Given the description of an element on the screen output the (x, y) to click on. 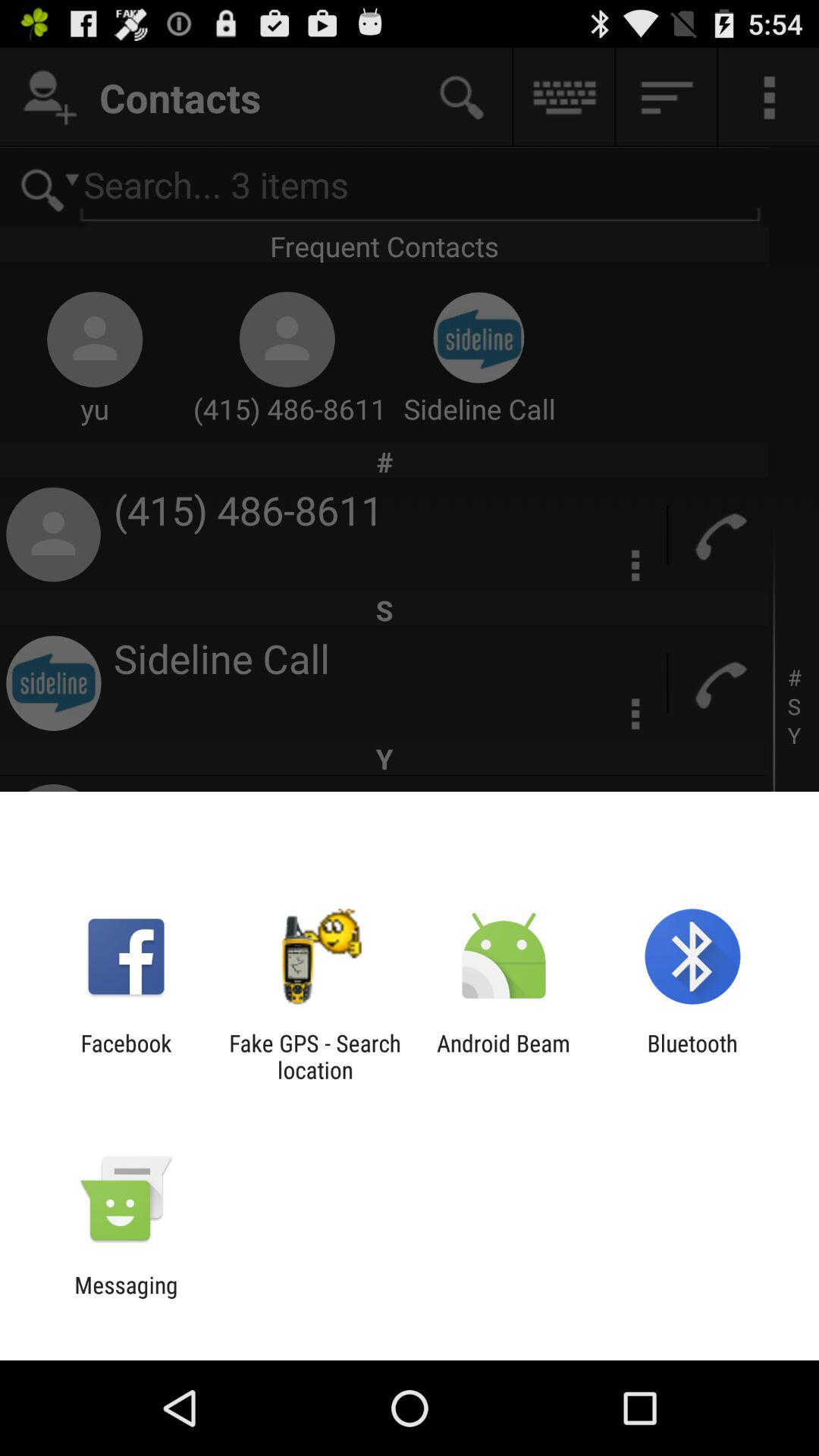
turn on icon to the right of facebook app (314, 1056)
